Given the description of an element on the screen output the (x, y) to click on. 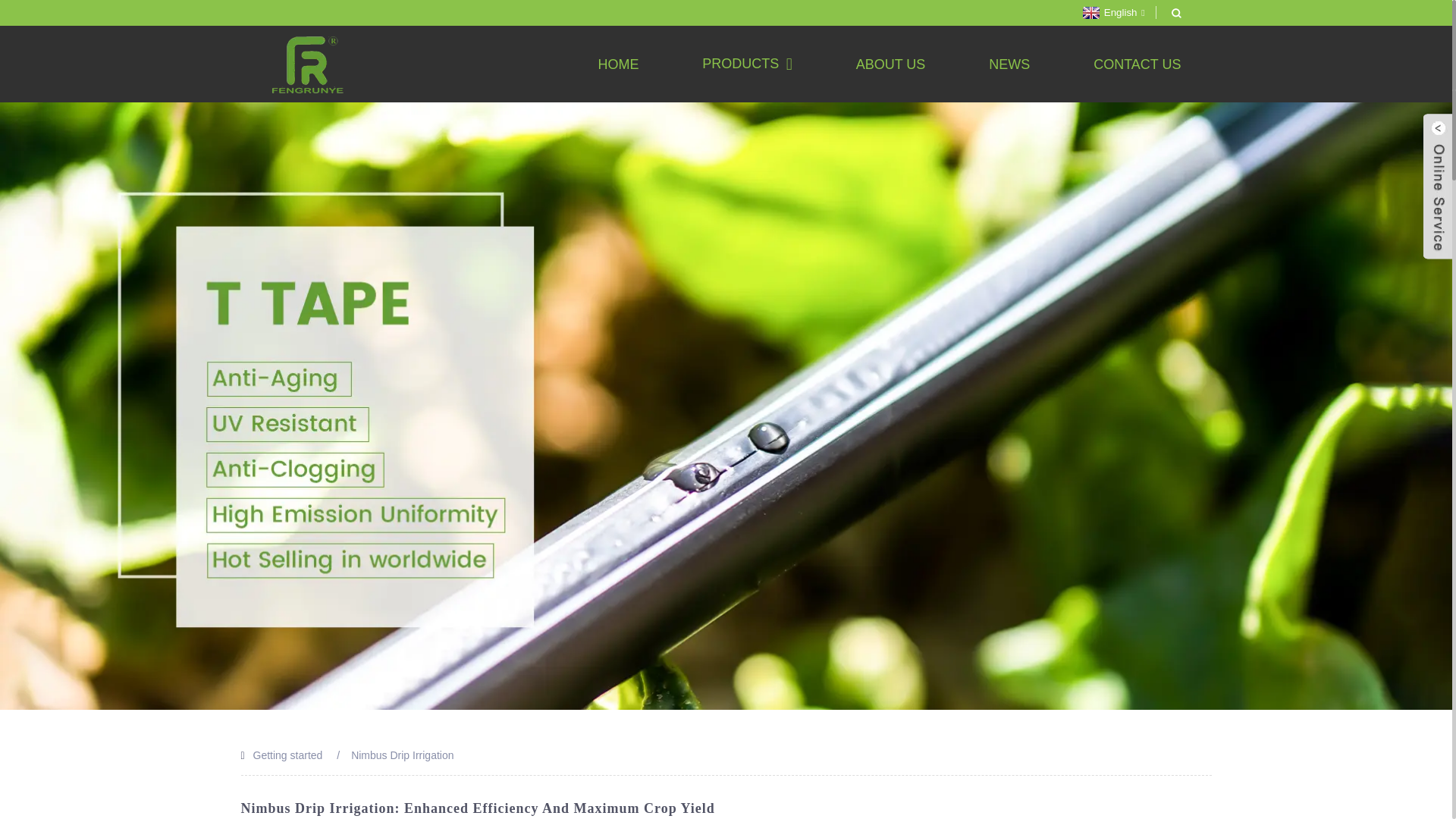
PRODUCTS (746, 63)
English (1111, 12)
ABOUT US (891, 64)
CONTACT US (1136, 64)
Getting started (288, 755)
Nimbus Drip Irrigation (401, 755)
